Given the description of an element on the screen output the (x, y) to click on. 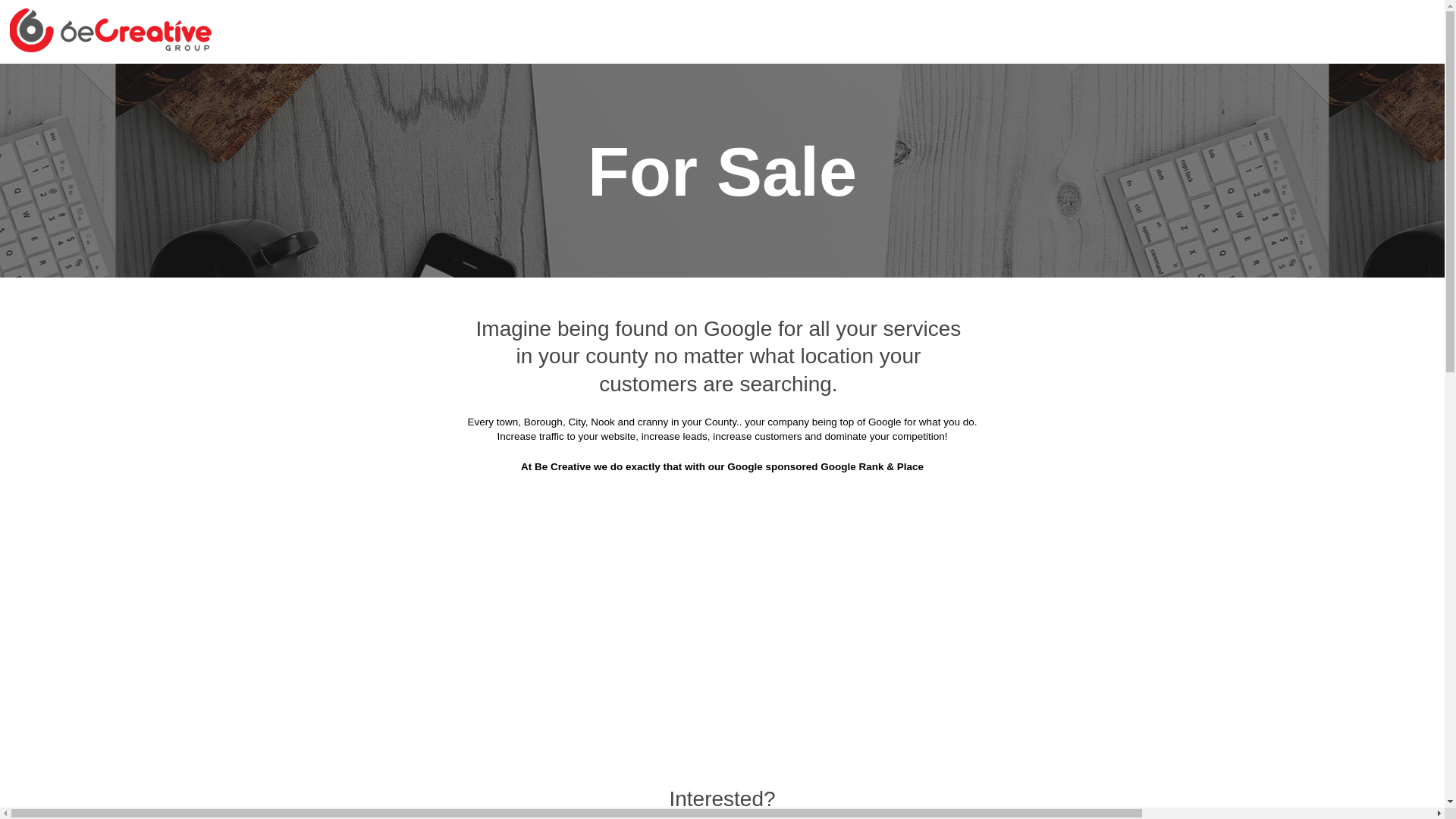
Aggregate Suppliers Camborne Cornwall (1072, 196)
Aggregate Suppliers Hatherleigh Devon (409, 346)
Aggregate Suppliers Barnstaple Devon (395, 121)
Aggregate Suppliers Devon (660, 83)
Aggregate Suppliers Chudleigh Devon (622, 234)
Aggregate Suppliers Bideford Devon (617, 121)
Aggregate Suppliers Bovey Tracey Devon (1070, 121)
Aggregate Suppliers Brixham Devon (632, 158)
Aggregate Suppliers Ilfracombe Devon (625, 383)
Aggregate Suppliers Exmouth Devon (1083, 271)
Aggregate Suppliers Helston Cornwall (850, 346)
Aggregate Suppliers Kingsbridge Devon (1074, 383)
Aggregate Suppliers Callington Cornwall (834, 196)
Aggregate Suppliers Budleigh Salterton Devon (582, 196)
Aggregate Suppliers Fowey Cornwall (824, 309)
